Given the description of an element on the screen output the (x, y) to click on. 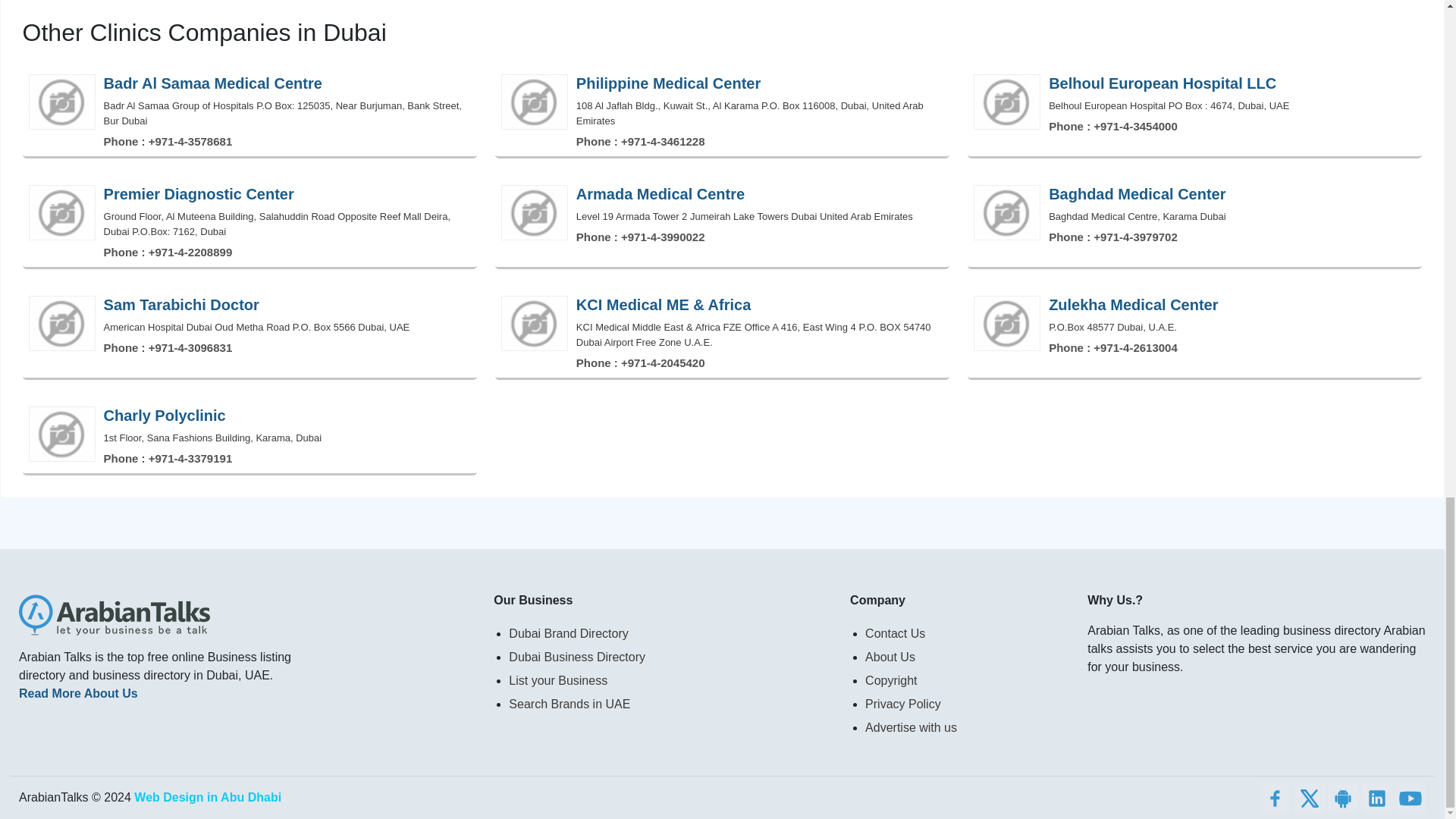
Search Brands in UAE (669, 703)
Dubai Brand Directory (669, 633)
Advertise with us (966, 727)
About Us (966, 657)
Read More About Us (78, 693)
Copyright (966, 680)
List your Business (669, 680)
Dubai Business Directory (669, 657)
Privacy Policy (966, 703)
Contact Us (966, 633)
Web Design in Abu Dhabi (207, 797)
